Given the description of an element on the screen output the (x, y) to click on. 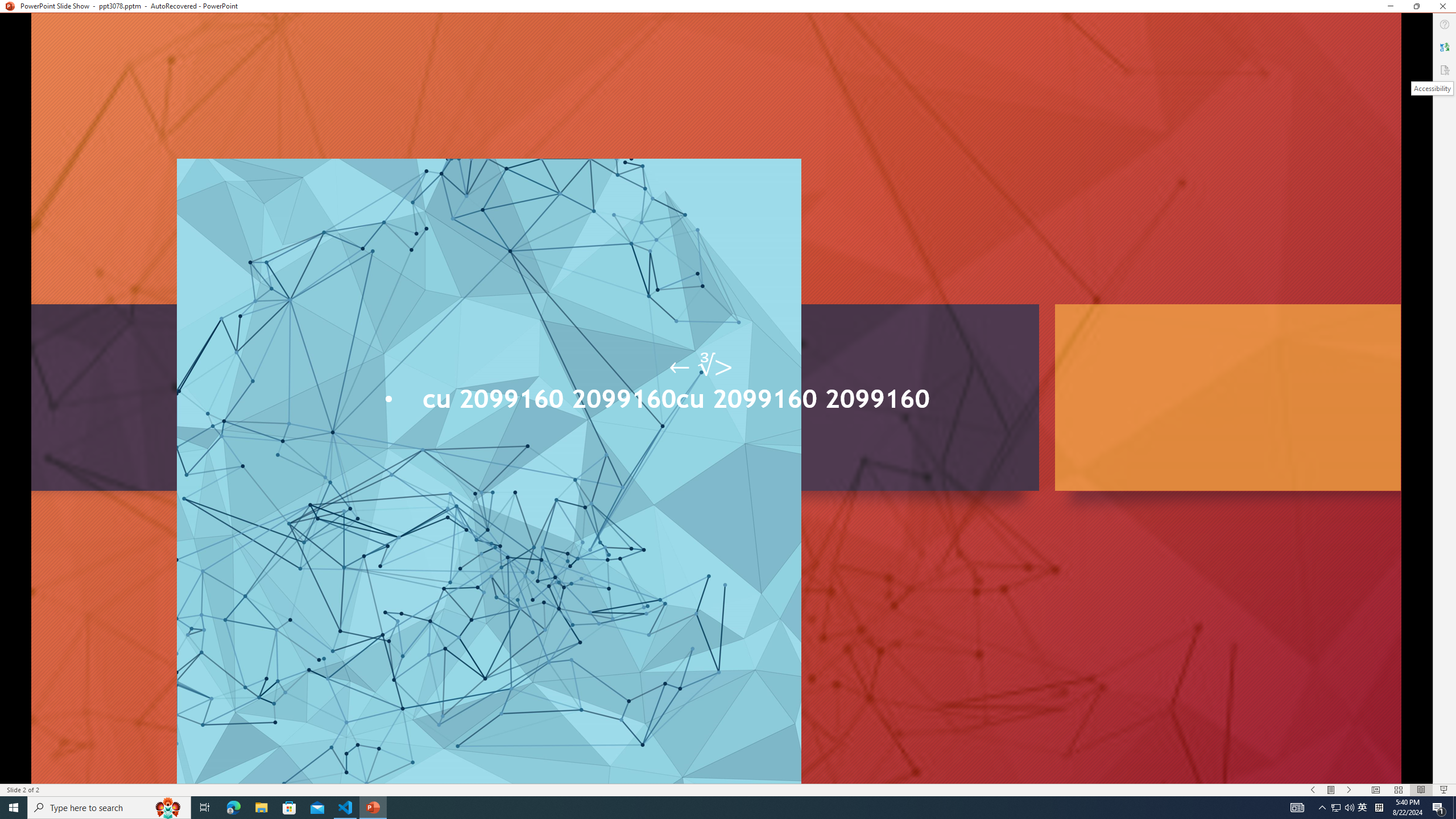
Slide Show Previous On (1313, 790)
Slide Show Next On (1349, 790)
Menu On (1331, 790)
